Given the description of an element on the screen output the (x, y) to click on. 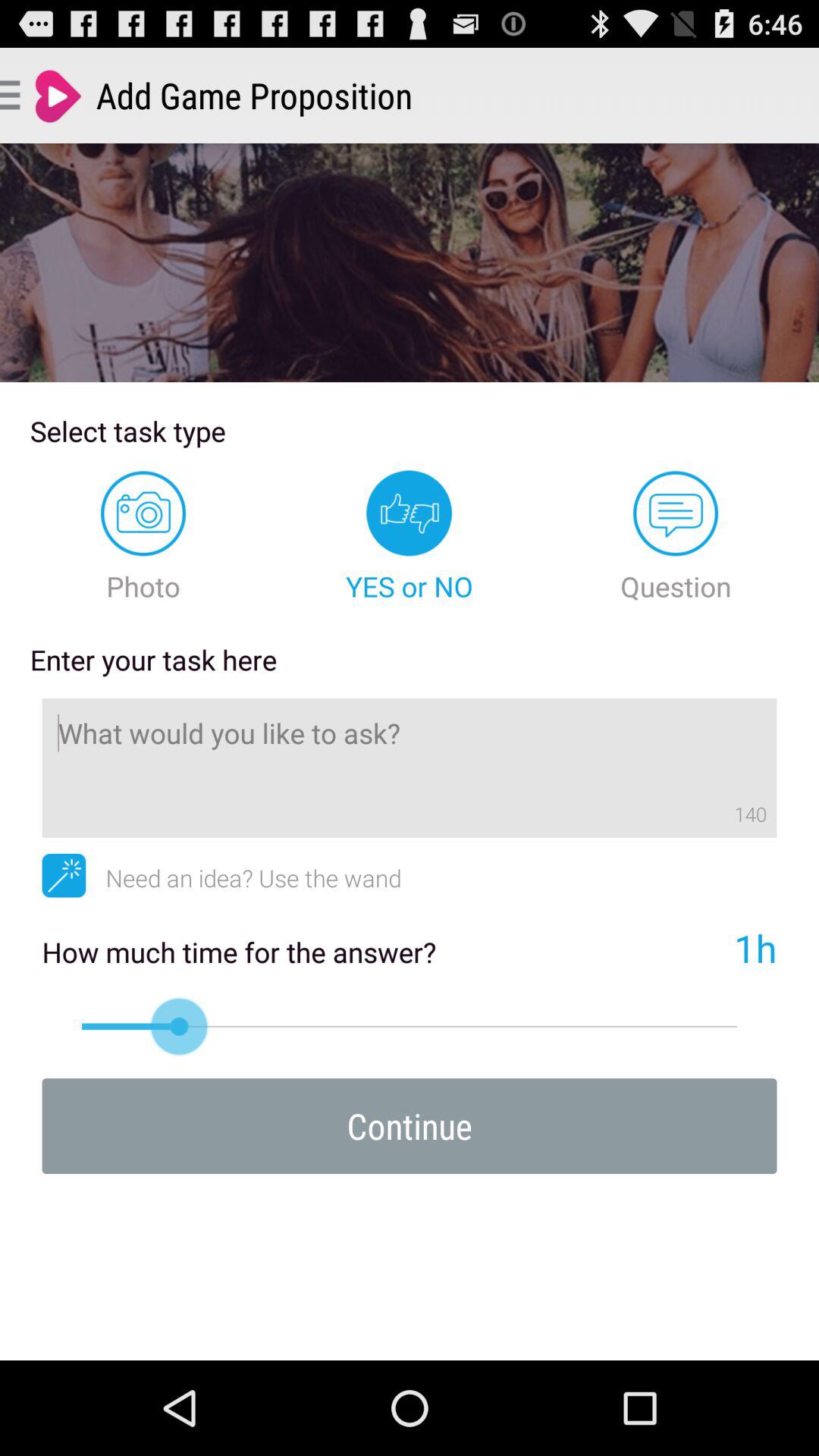
choose continue icon (409, 1125)
